Given the description of an element on the screen output the (x, y) to click on. 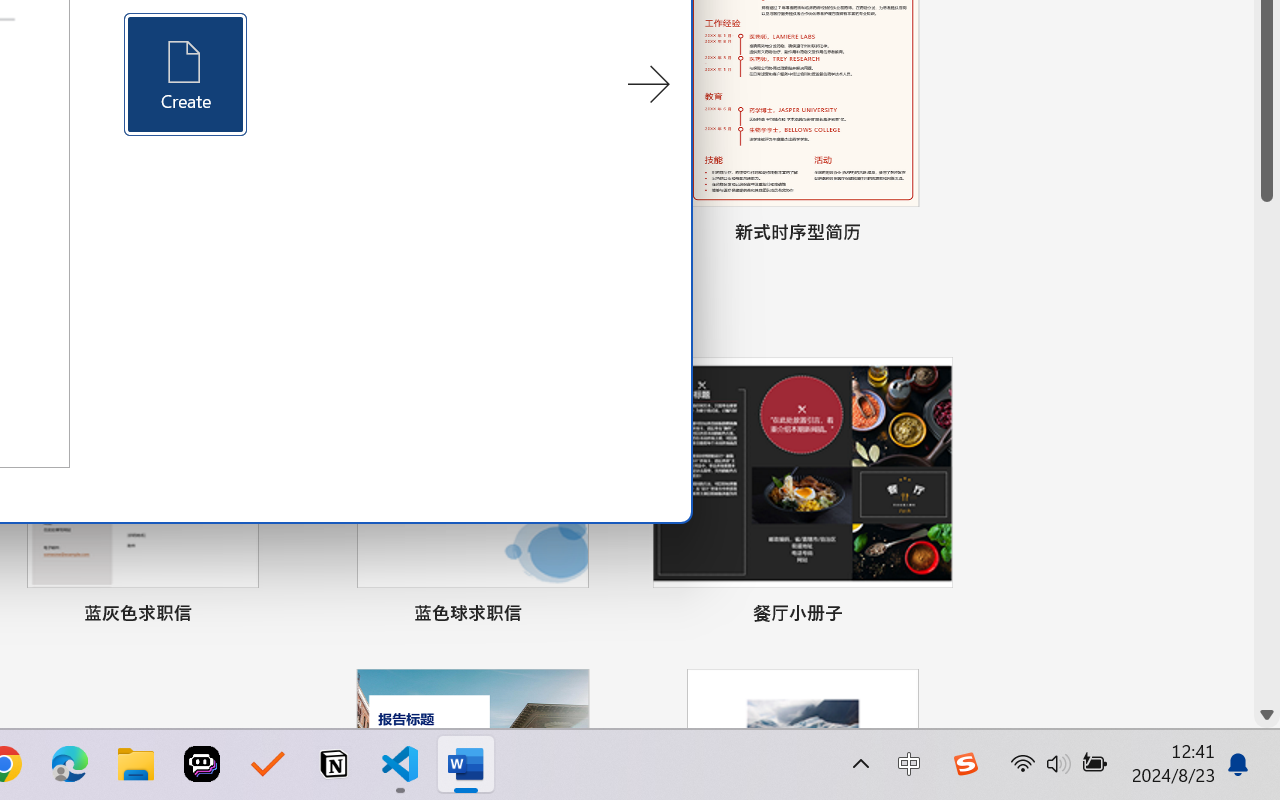
Pin to list (934, 616)
Create (185, 74)
Page down (1267, 451)
